Given the description of an element on the screen output the (x, y) to click on. 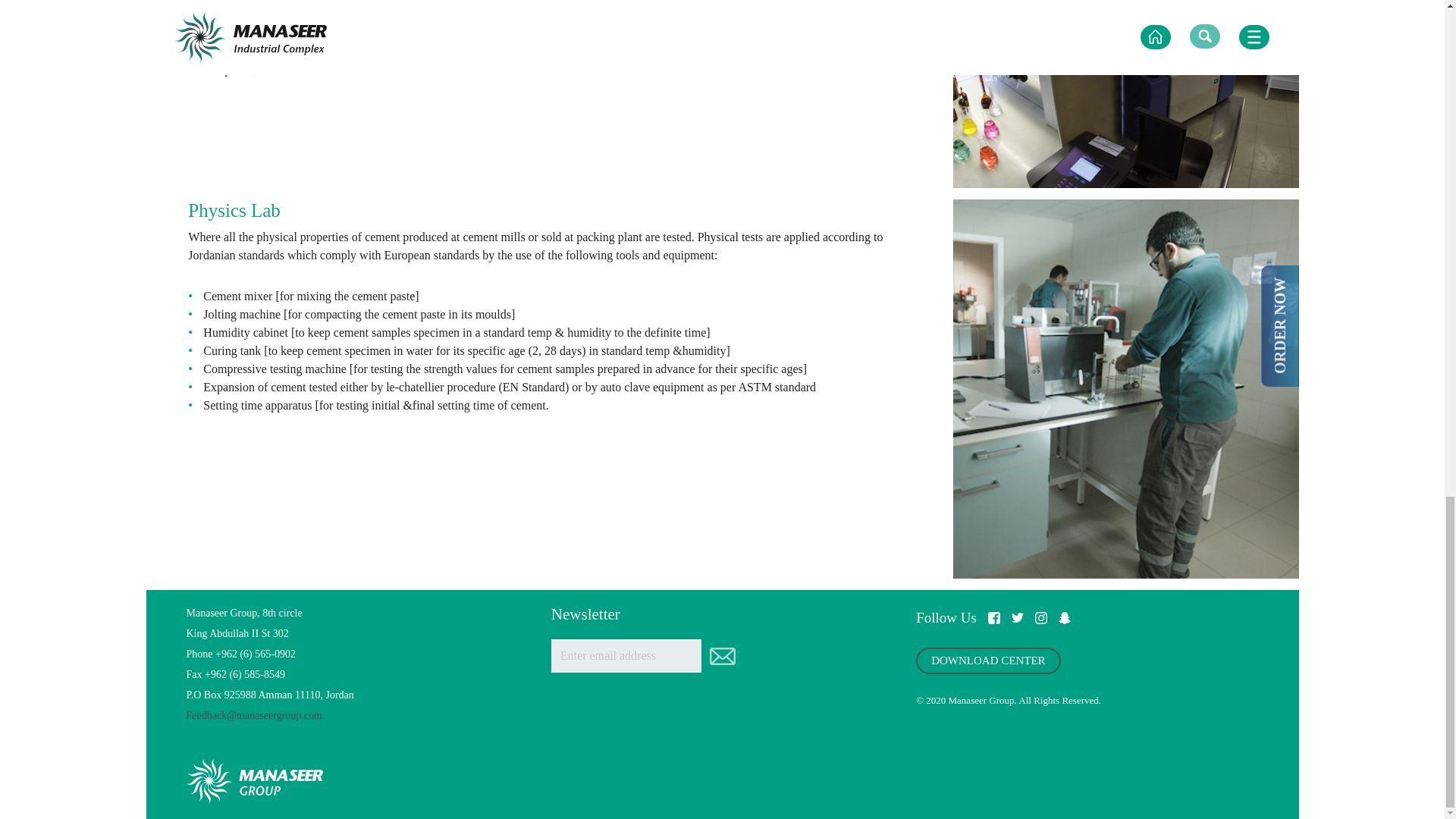
DOWNLOAD CENTER (987, 660)
